Given the description of an element on the screen output the (x, y) to click on. 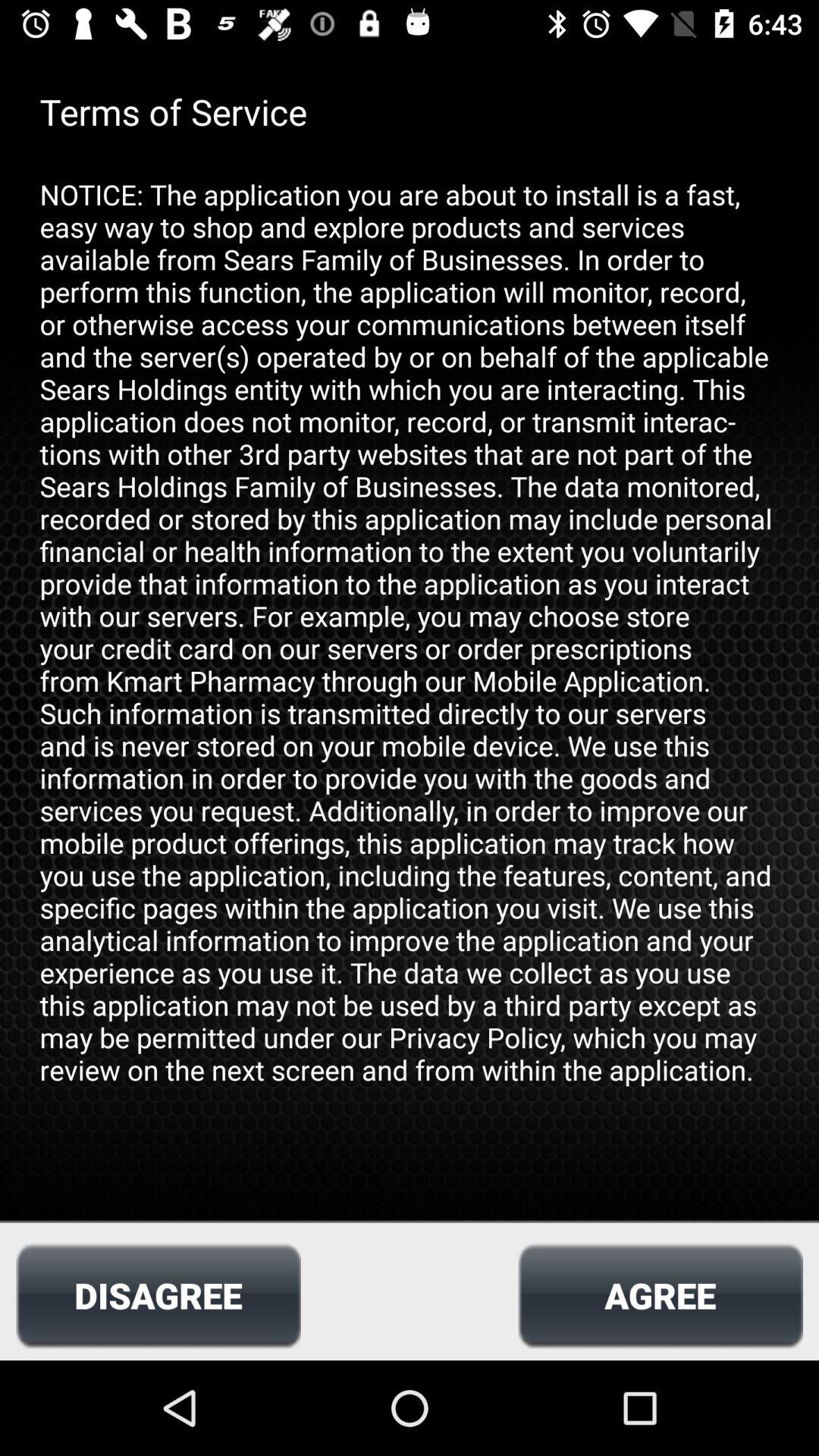
jump until the agree icon (660, 1295)
